Given the description of an element on the screen output the (x, y) to click on. 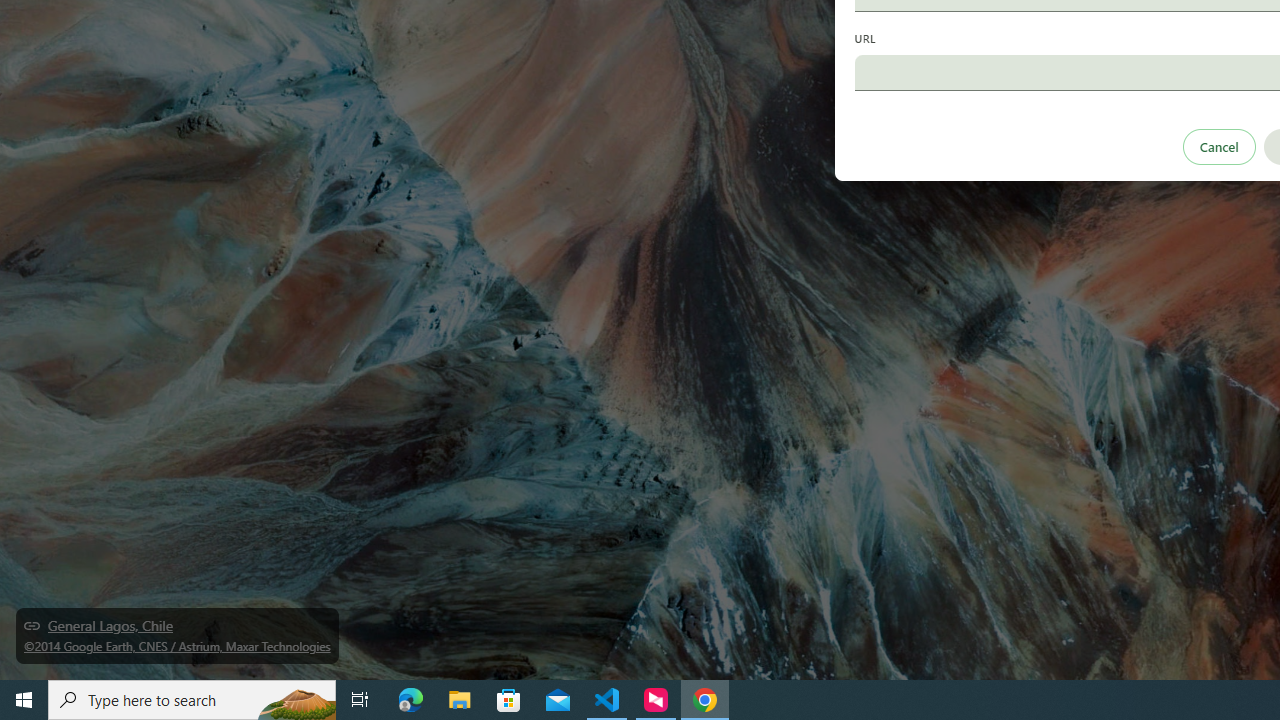
Cancel (1218, 146)
